Given the description of an element on the screen output the (x, y) to click on. 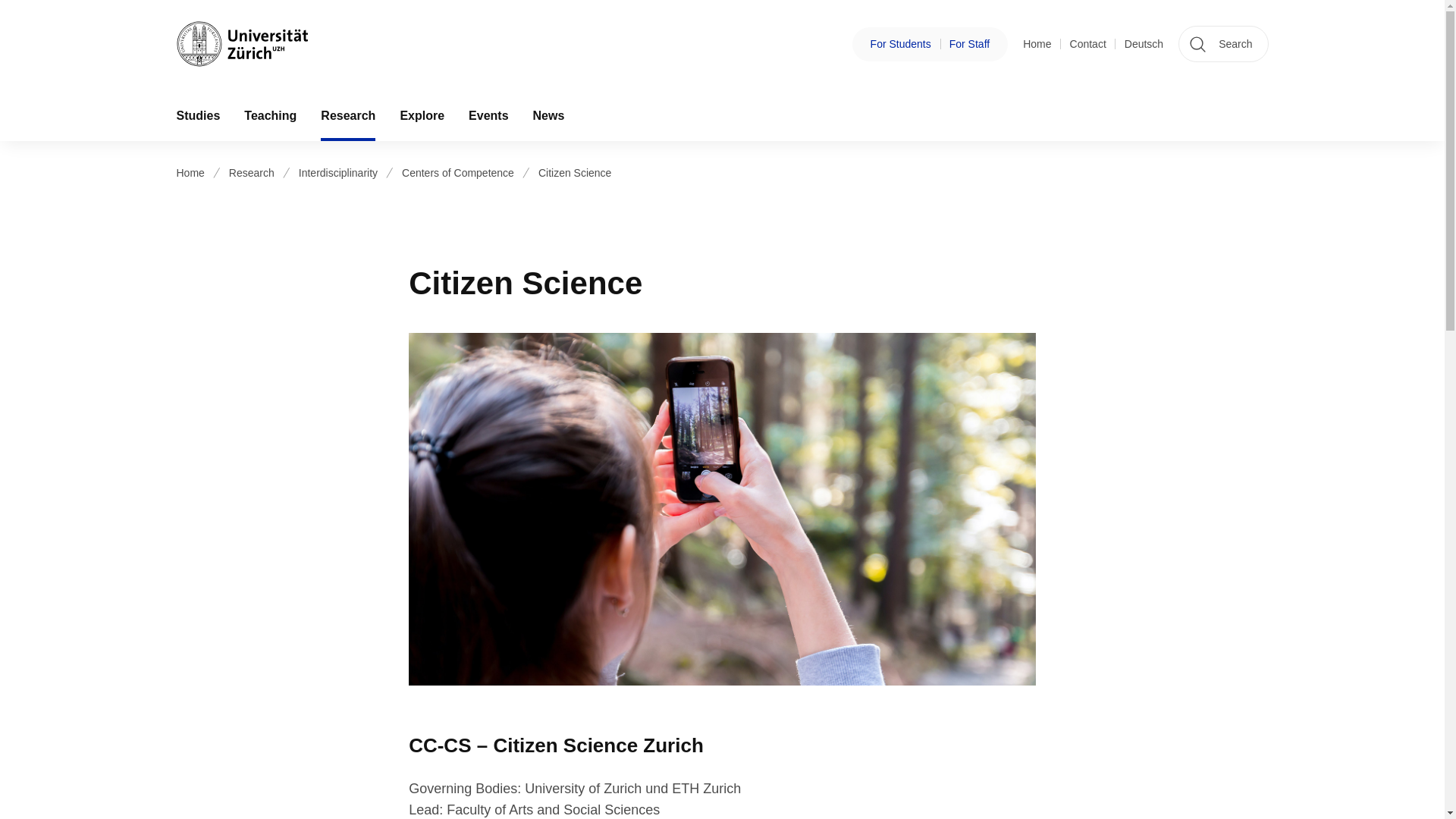
Studies (197, 115)
For Students (900, 44)
Search (1222, 43)
Home (1037, 44)
Contact (1088, 44)
Deutsch (1143, 44)
For Staff (969, 44)
